Given the description of an element on the screen output the (x, y) to click on. 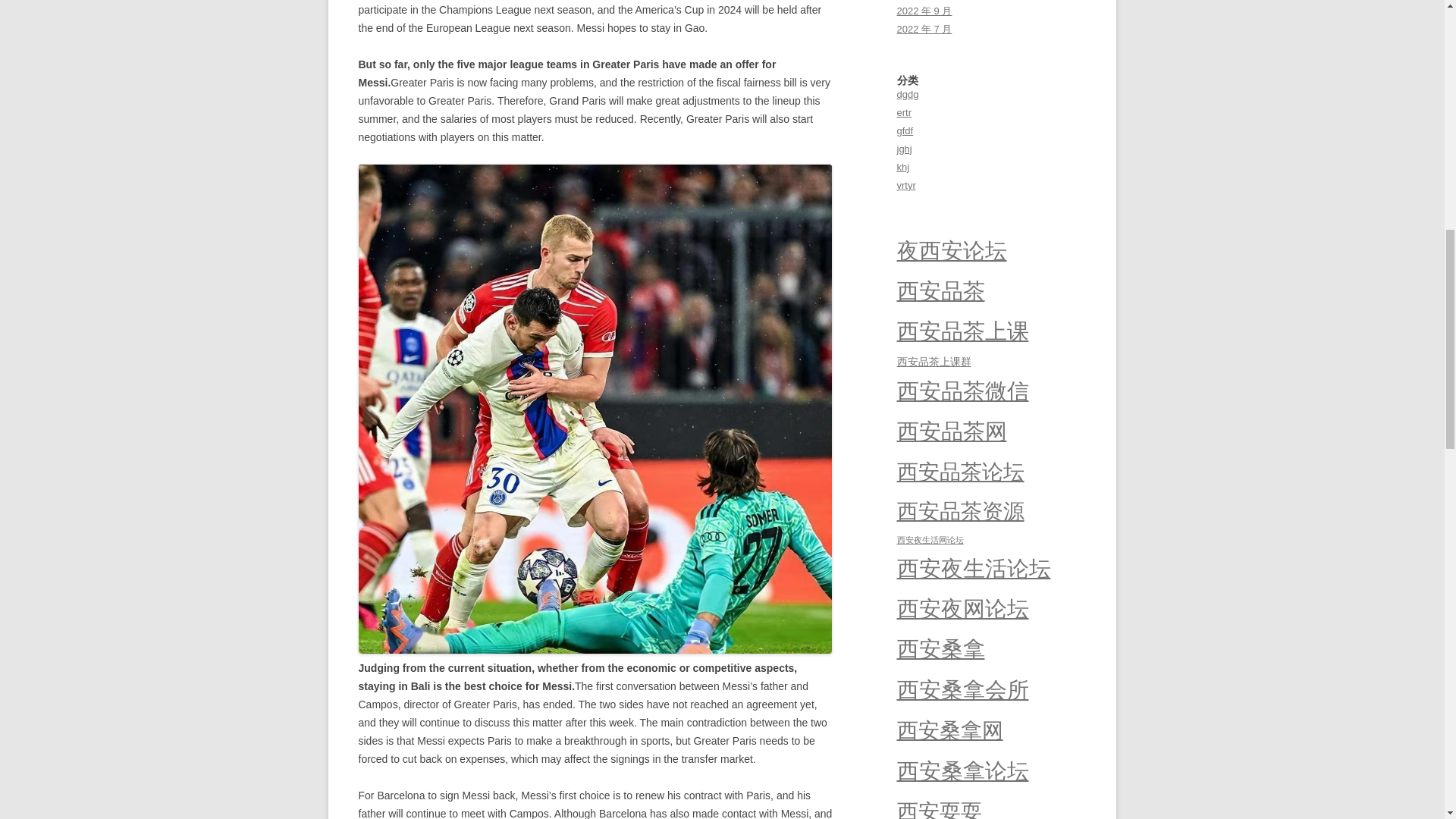
ertr (903, 112)
gfdf (904, 130)
khj (902, 166)
dgdg (907, 93)
jghj (903, 148)
yrtyr (905, 184)
